Given the description of an element on the screen output the (x, y) to click on. 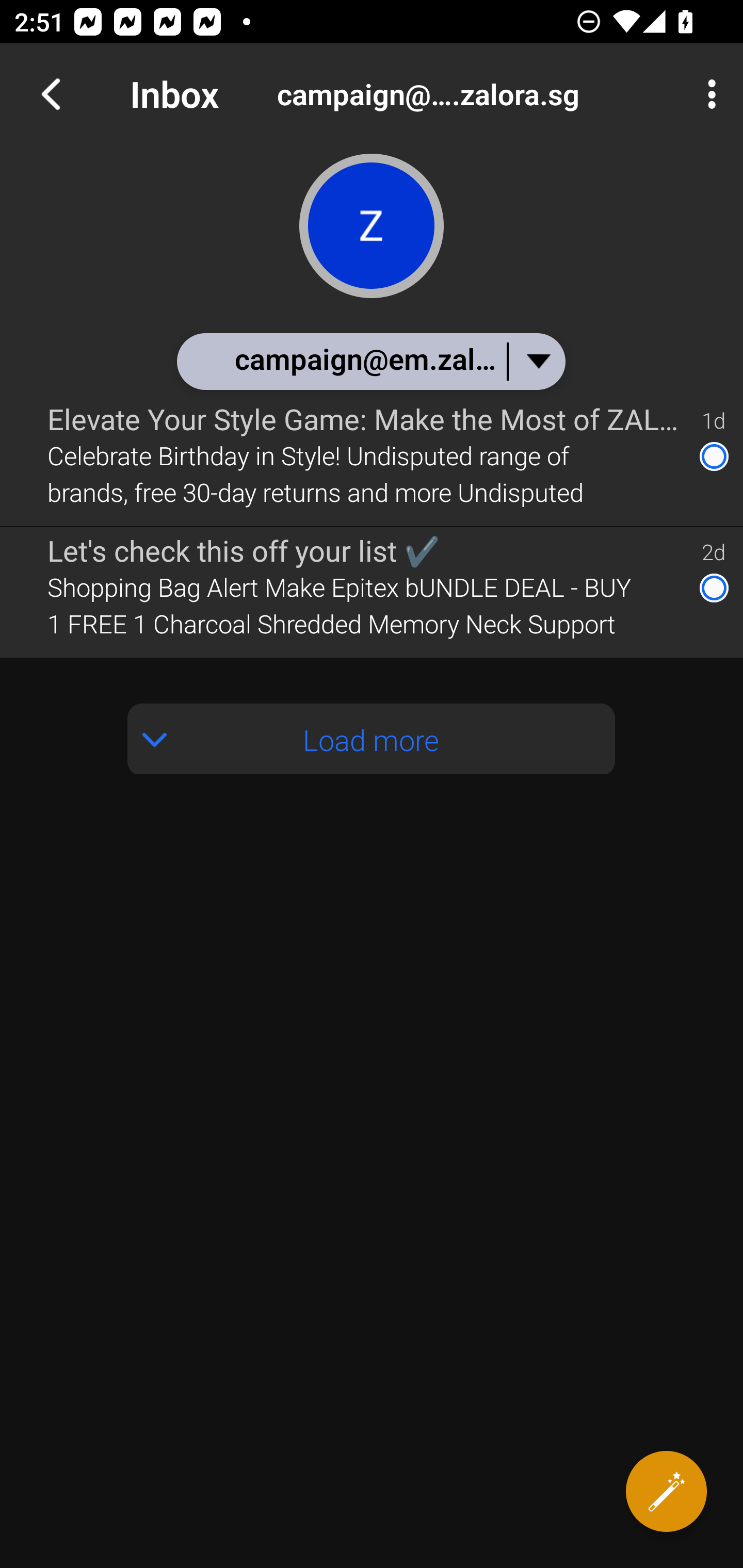
Navigate up (50, 93)
campaign@em.zalora.sg (481, 93)
More Options (706, 93)
campaign@em.zalora.sg & You (370, 361)
Load more (371, 739)
